Given the description of an element on the screen output the (x, y) to click on. 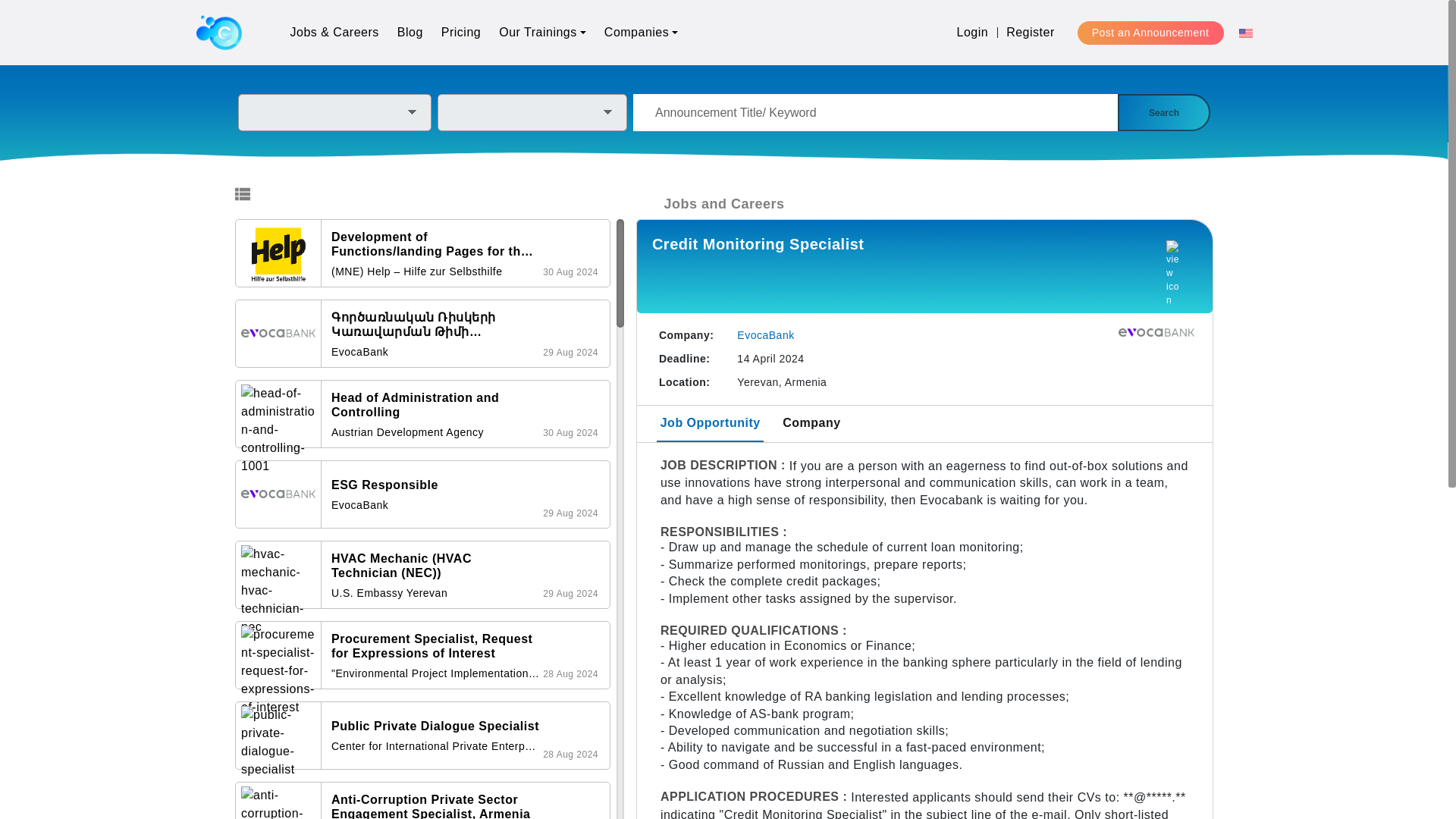
U.S. Embassy Yerevan (434, 593)
Opening Date (570, 272)
Opening Date (570, 673)
Login (972, 32)
Pricing (460, 32)
Opening Date (570, 352)
Center for International Private Enterprise (434, 746)
Switch to classic view (242, 193)
Home (218, 32)
